Given the description of an element on the screen output the (x, y) to click on. 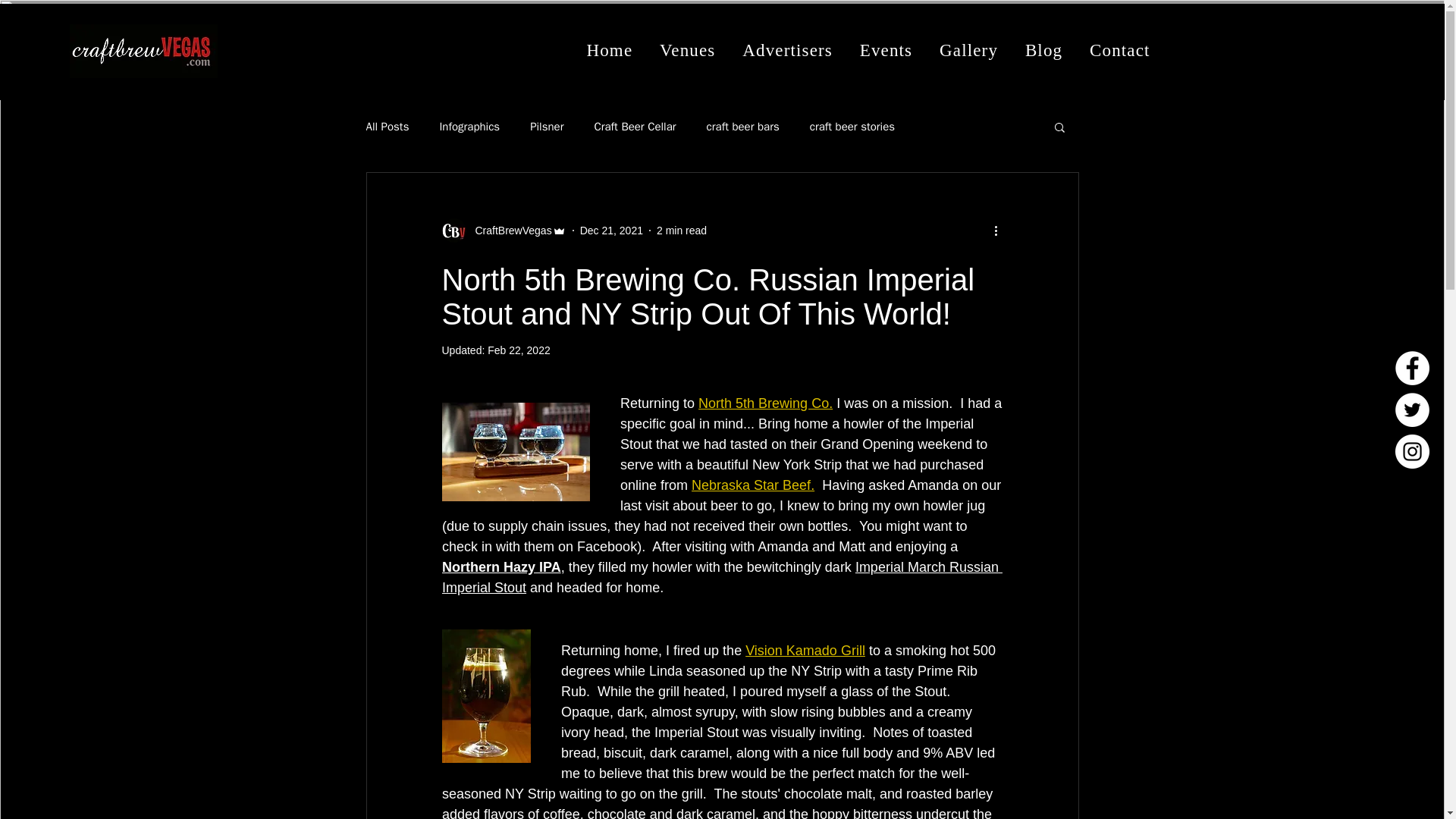
craft beer bars (742, 126)
Home (609, 50)
Vision Kamado Grill (804, 650)
Contact (1119, 50)
Infographics (469, 126)
Gallery (968, 50)
All Posts (387, 126)
Advertisers (787, 50)
Dec 21, 2021 (611, 230)
Pilsner (546, 126)
